Given the description of an element on the screen output the (x, y) to click on. 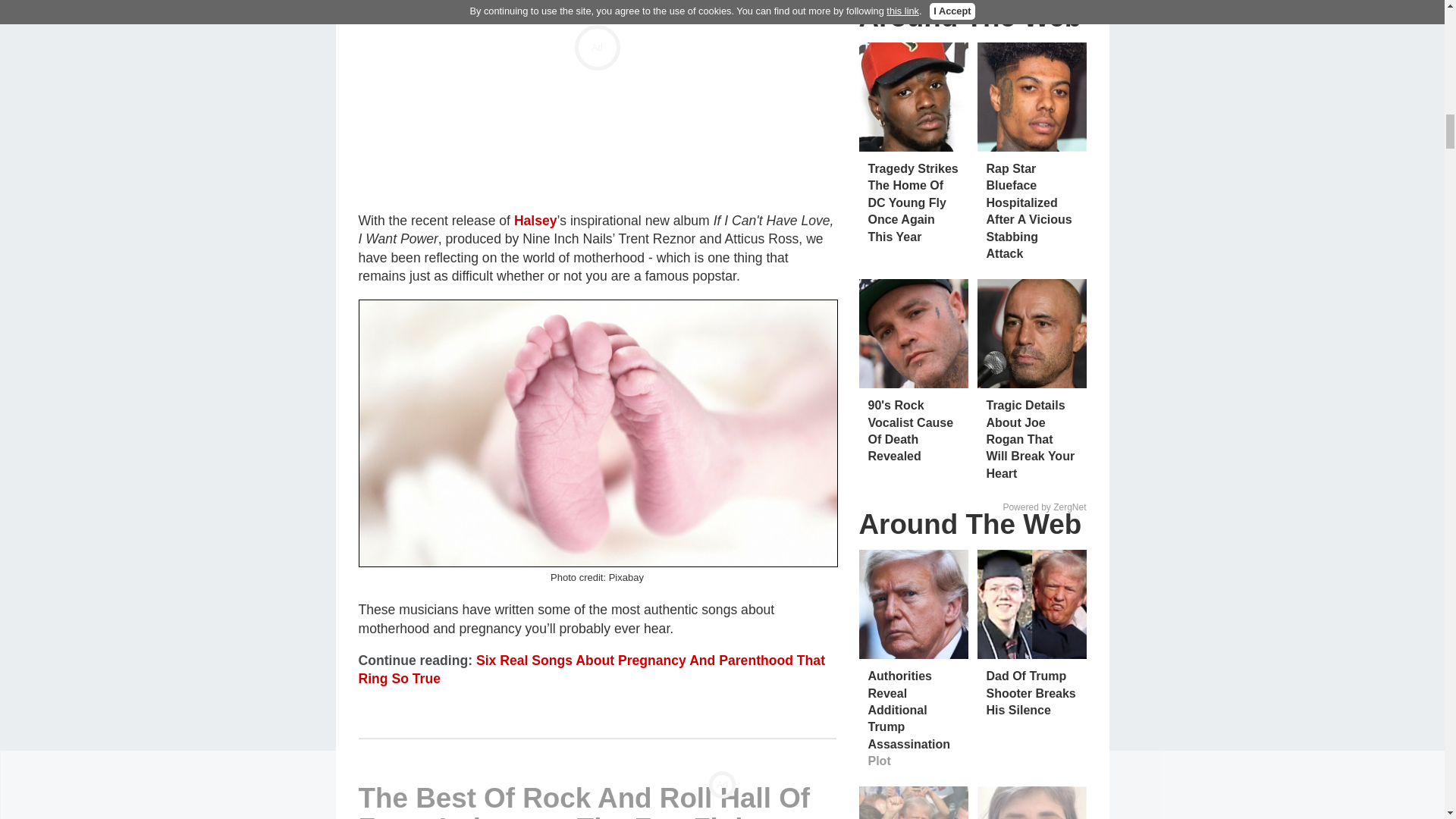
Photo credit: Pixabay (597, 433)
